Given the description of an element on the screen output the (x, y) to click on. 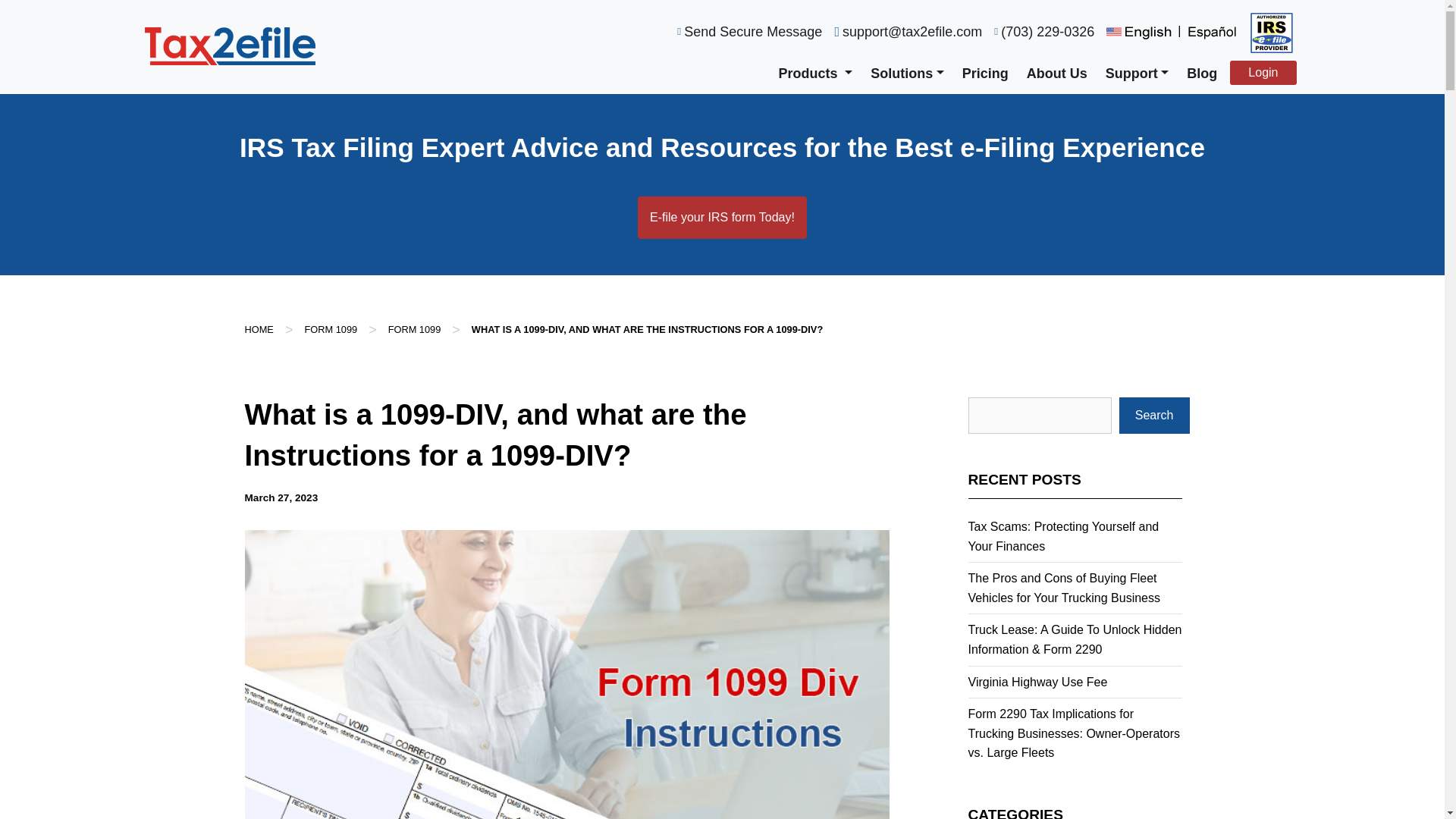
Send Secure Message (749, 25)
Secure Message (749, 25)
Tax2efile (229, 46)
Products (816, 73)
703-229-0326 (1044, 25)
